Given the description of an element on the screen output the (x, y) to click on. 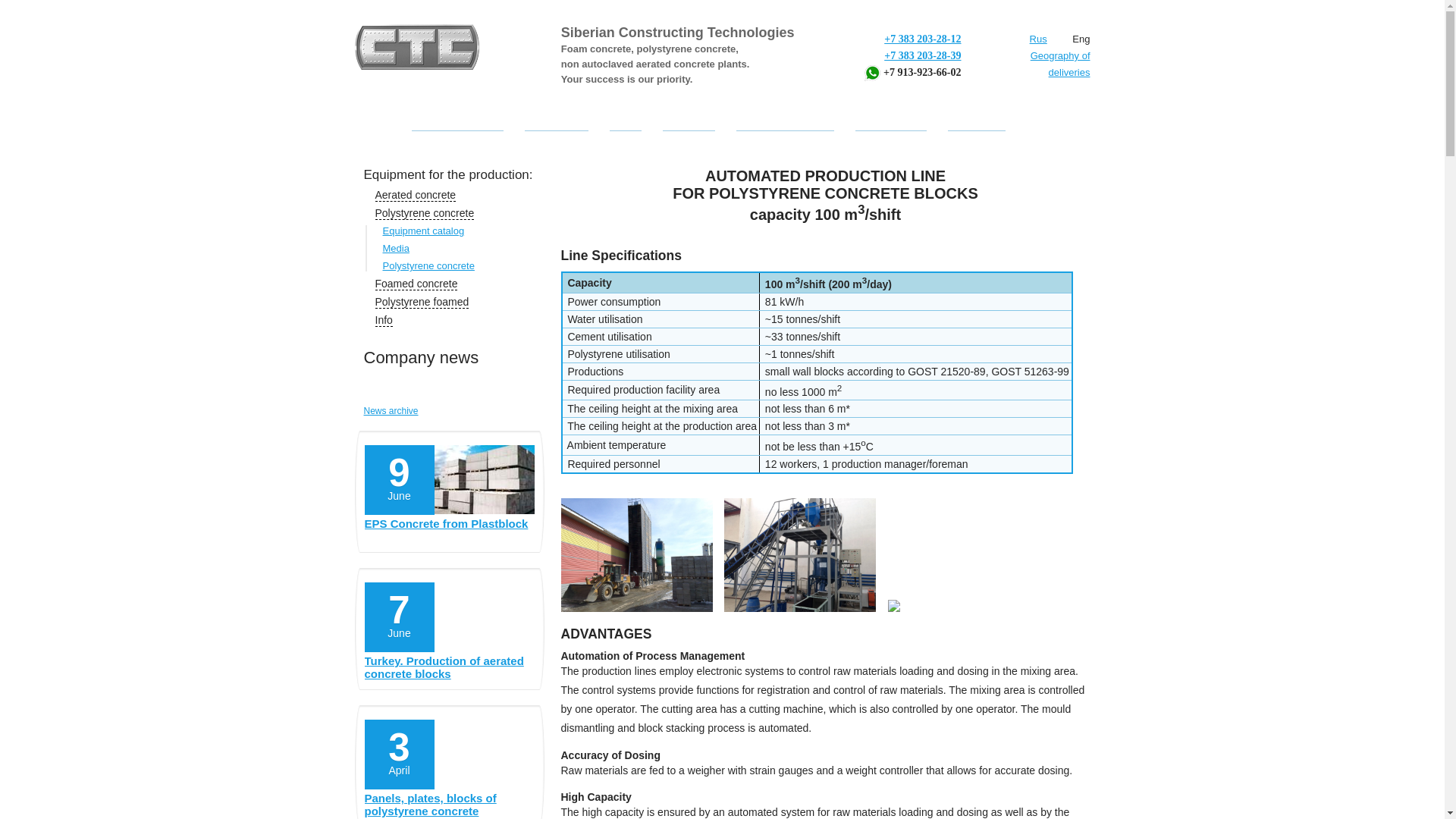
Geography of deliveries (1048, 64)
Equipment catalog (422, 230)
Turkey. Production of aerated concrete blocks (449, 670)
Panels, plates, blocks of polystyrene concrete (449, 805)
ARTICLES (688, 124)
Polystyrene concrete (424, 213)
CONTACTS (976, 124)
EPS Concrete from Plastblock (449, 532)
ABOUT COMPANY (456, 124)
Media (395, 247)
Foamed concrete (415, 283)
OUR CLIENTS (891, 124)
Write to us in WhatsApp (871, 72)
NEWS (626, 124)
